Given the description of an element on the screen output the (x, y) to click on. 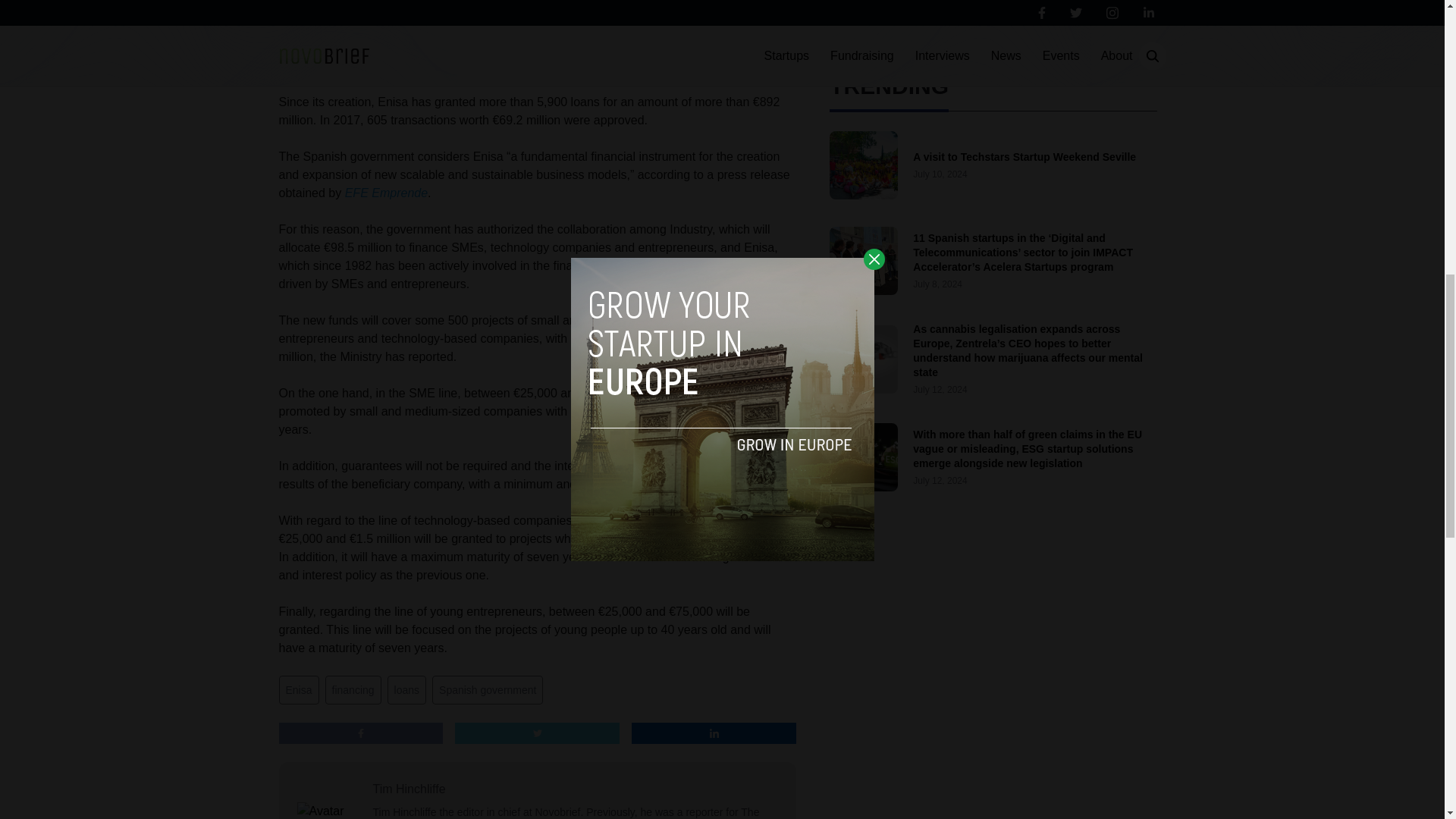
loans (406, 689)
Spanish government (487, 689)
EFE Emprende (386, 192)
Enisa (298, 689)
financing (352, 689)
